Given the description of an element on the screen output the (x, y) to click on. 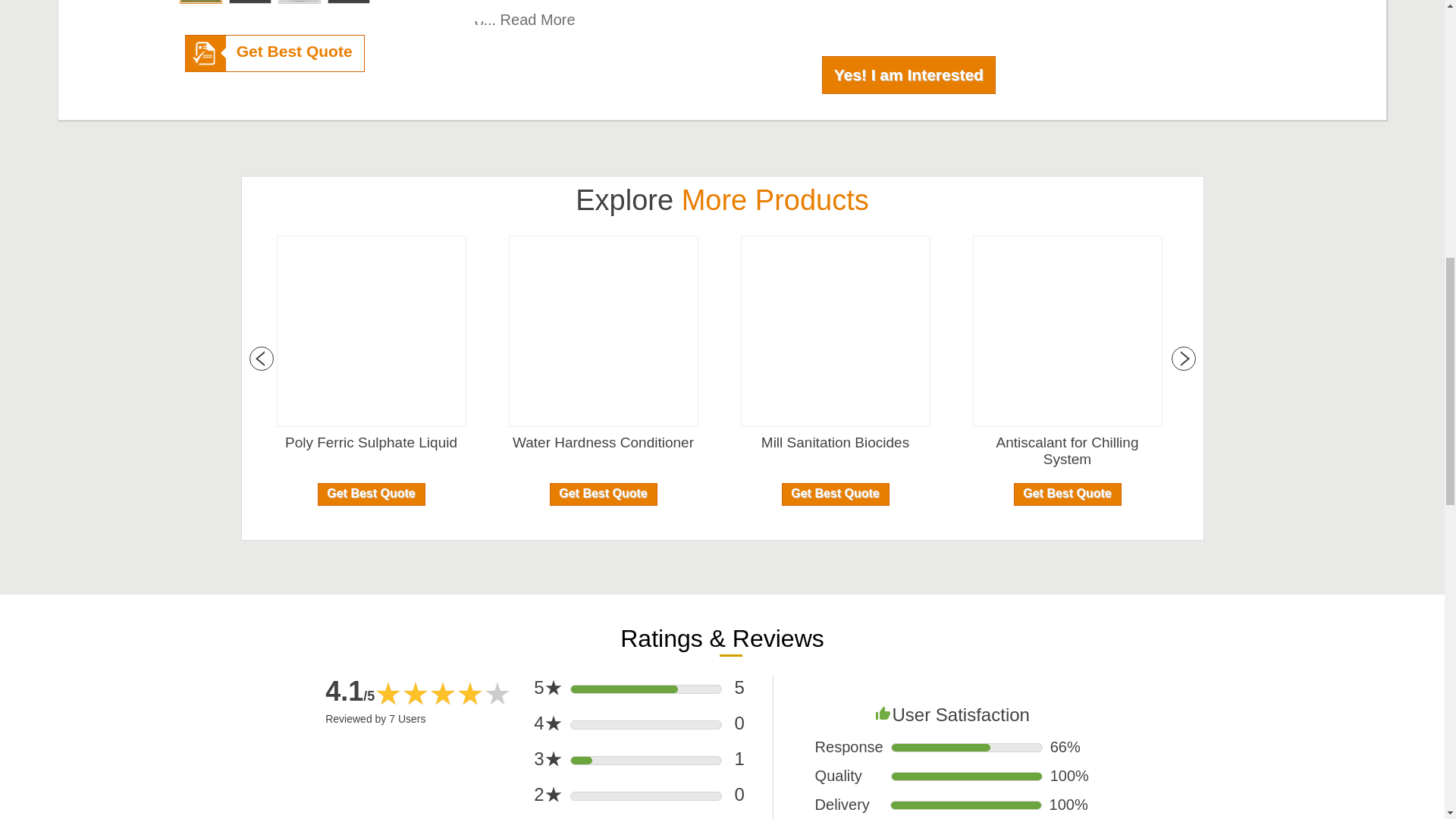
4.1 out of 5 Votes (349, 690)
Poly Ferric Sulphate Liquid (370, 442)
Mill Sanitation Biocides (834, 442)
Antiscalant for Chilling System (1066, 450)
Water Hardness Conditioner (602, 442)
